Given the description of an element on the screen output the (x, y) to click on. 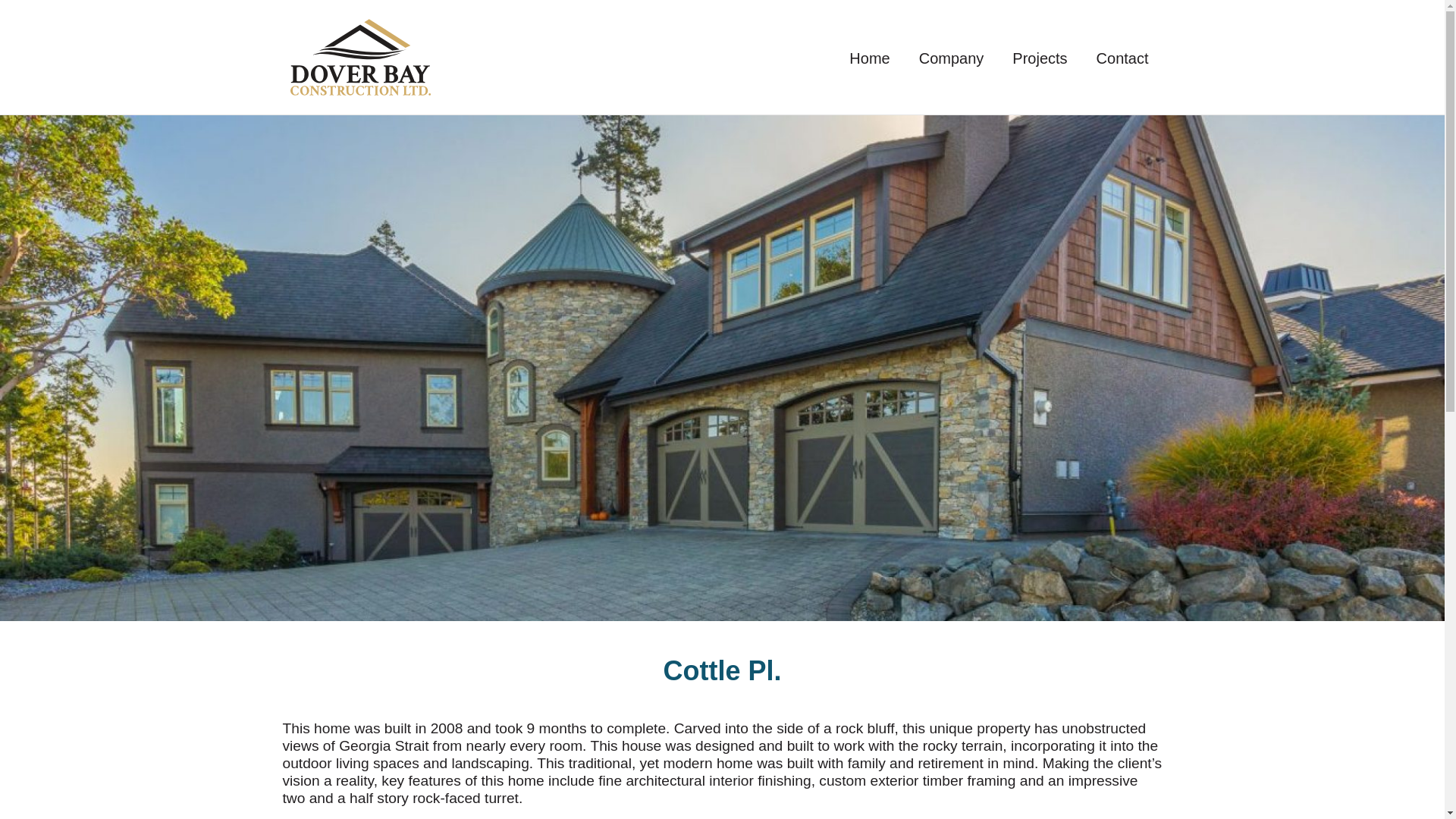
Dover Bay Construction (395, 57)
Projects (1038, 58)
Home (868, 58)
Contact (1121, 58)
Cottle Pl. (721, 670)
Company (950, 58)
Cottle Pl. (721, 670)
Dover Bay Construction (359, 56)
